Given the description of an element on the screen output the (x, y) to click on. 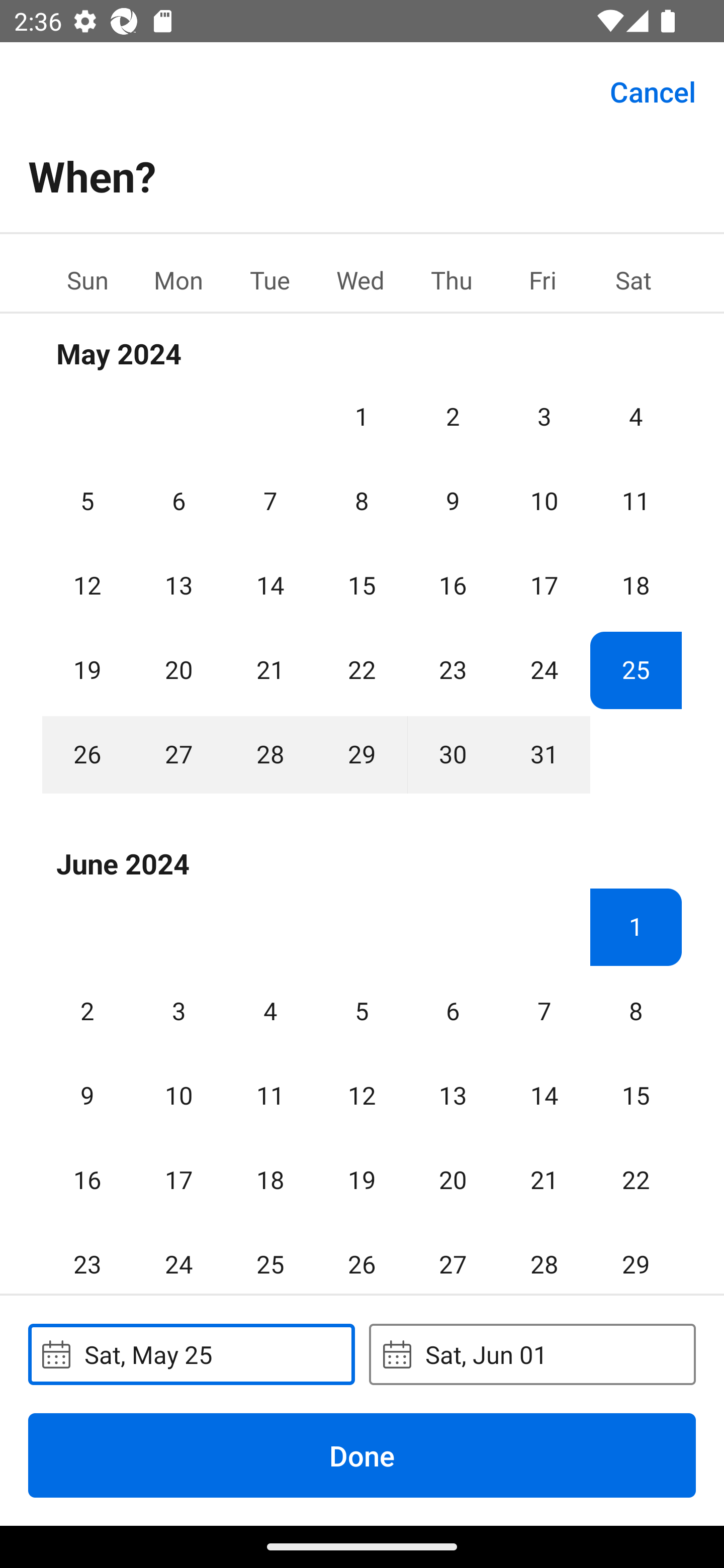
Cancel (652, 90)
Sat, May 25 (191, 1353)
Sat, Jun 01 (532, 1353)
Done (361, 1454)
